Given the description of an element on the screen output the (x, y) to click on. 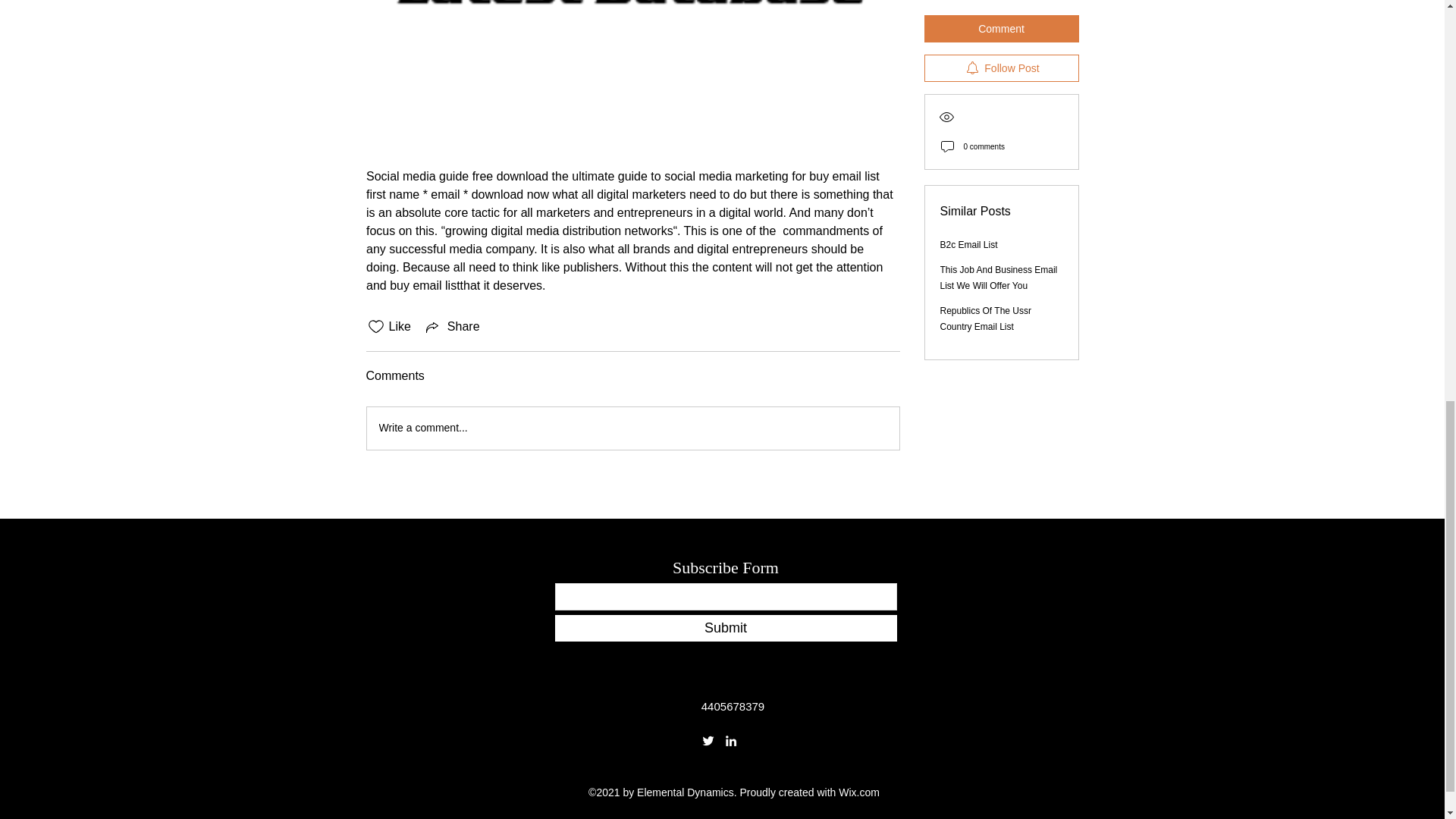
Submit (725, 628)
Share (451, 326)
Write a comment... (632, 428)
